Given the description of an element on the screen output the (x, y) to click on. 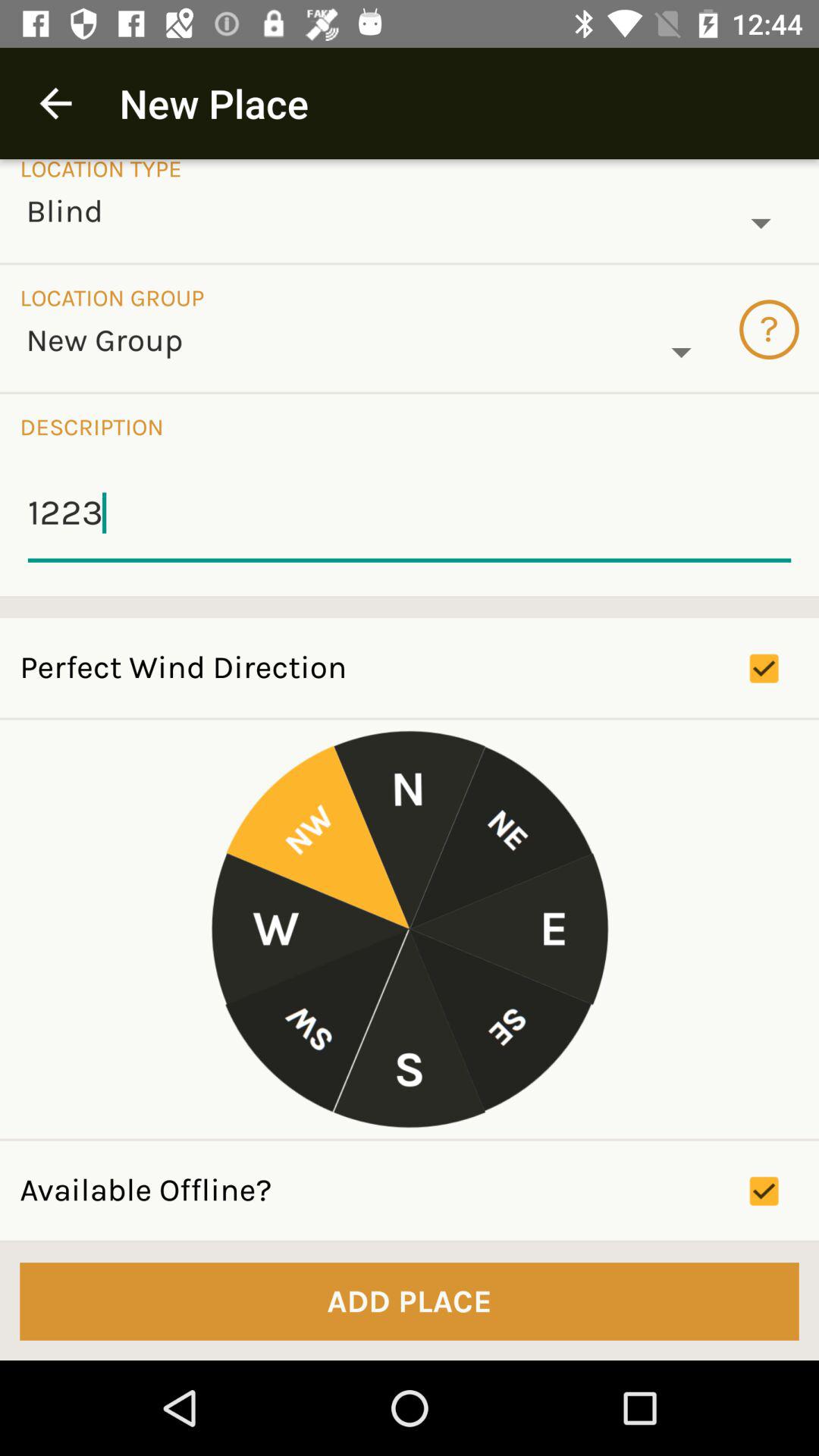
click on the question mark icon (769, 329)
the check box right to perfect wind direction (784, 668)
